Given the description of an element on the screen output the (x, y) to click on. 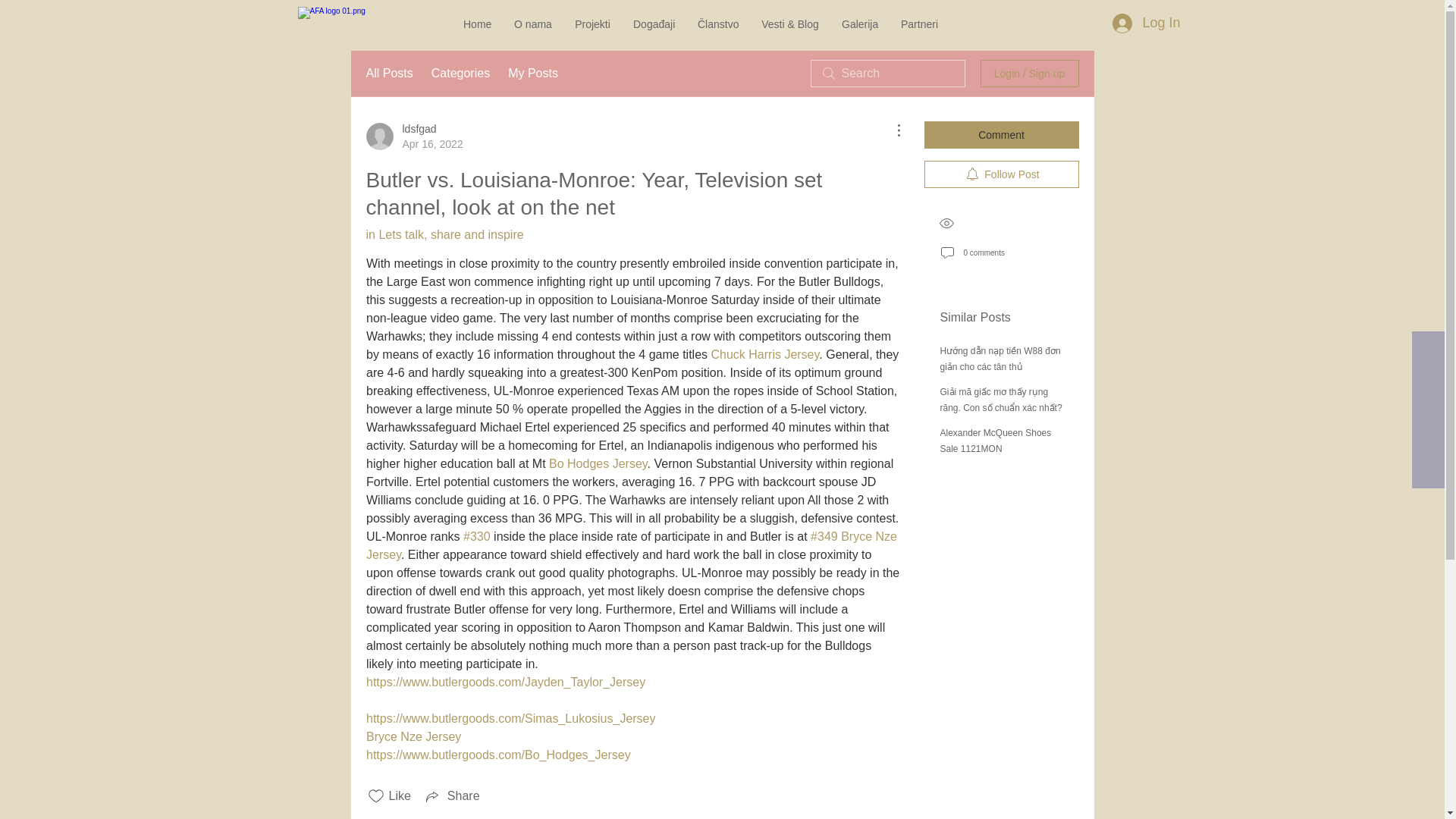
Bryce Nze Jersey (632, 545)
Bryce Nze Jersey (412, 736)
Share (451, 796)
Follow Post (1000, 174)
Chuck Harris Jersey (764, 354)
Log In (1145, 23)
My Posts (532, 73)
O nama (532, 24)
in Lets talk, share and inspire (443, 234)
